Given the description of an element on the screen output the (x, y) to click on. 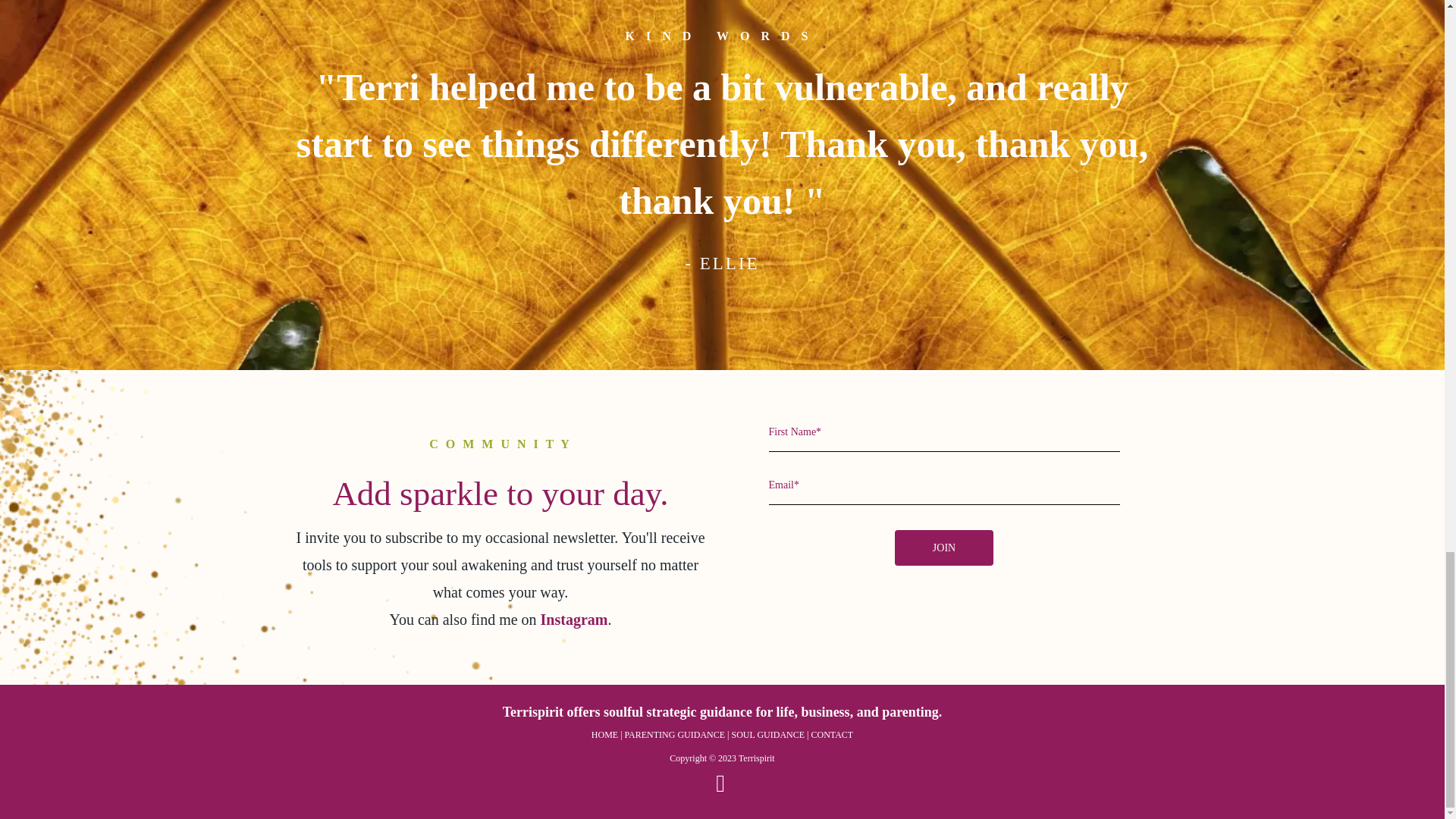
JOIN (943, 547)
SOUL GUIDANCE (768, 734)
HOME (604, 734)
CONTACT (831, 734)
Instagram (574, 619)
